Given the description of an element on the screen output the (x, y) to click on. 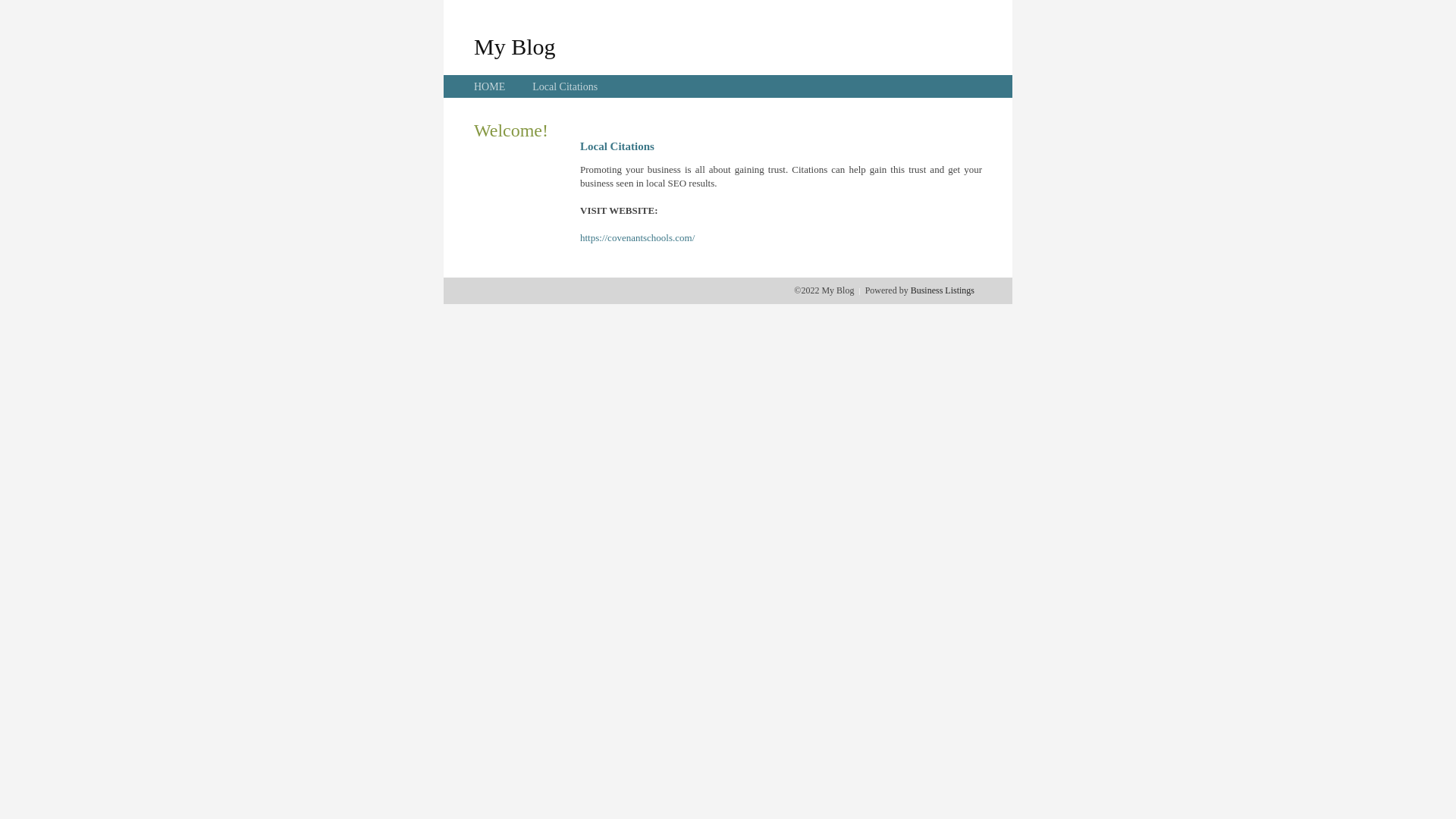
Local Citations Element type: text (564, 86)
My Blog Element type: text (514, 46)
https://covenantschools.com/ Element type: text (637, 237)
Business Listings Element type: text (942, 290)
HOME Element type: text (489, 86)
